Given the description of an element on the screen output the (x, y) to click on. 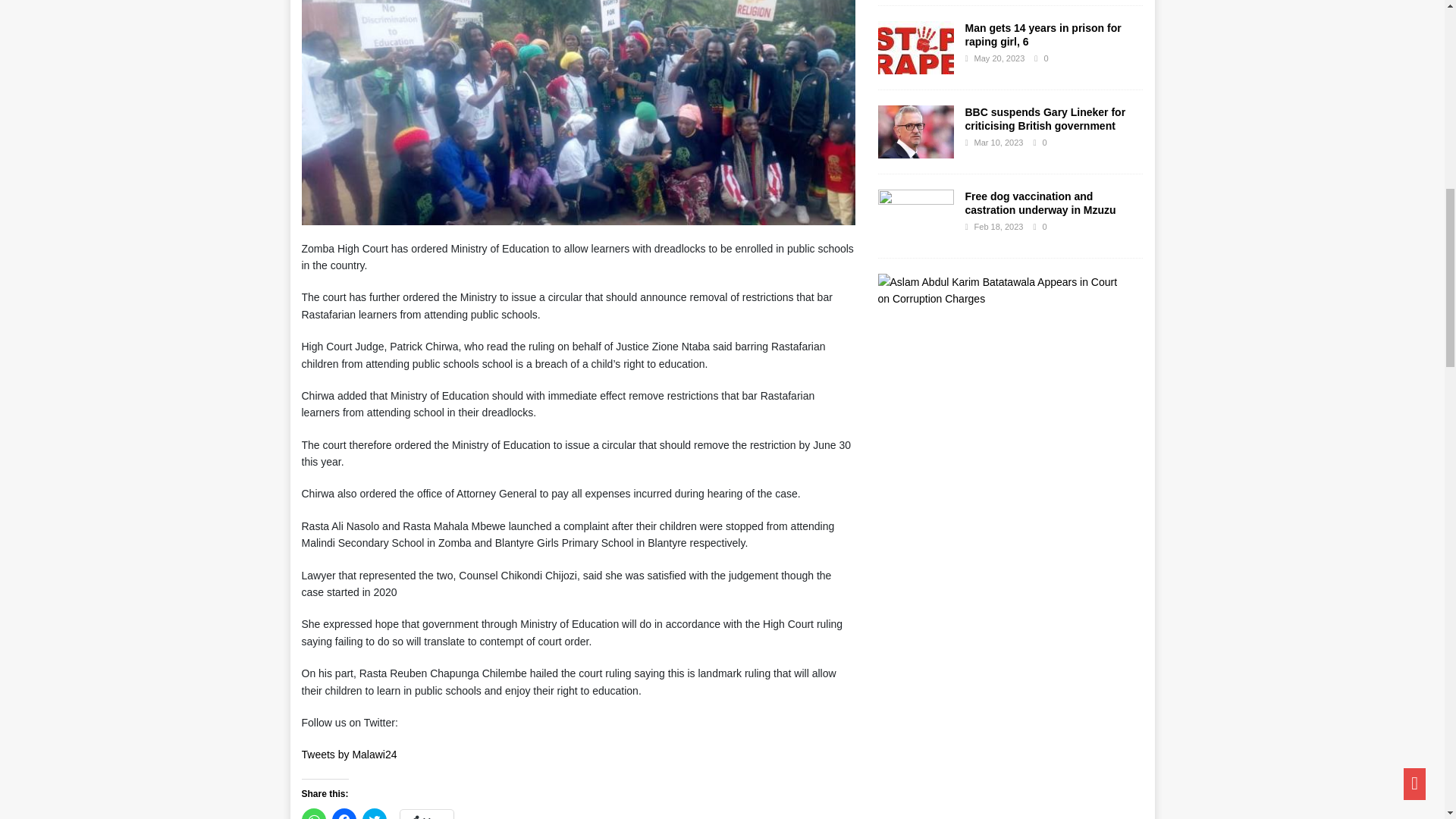
Click to share on Facebook (343, 813)
Click to share on WhatsApp (313, 813)
Click to share on Twitter (374, 813)
